Given the description of an element on the screen output the (x, y) to click on. 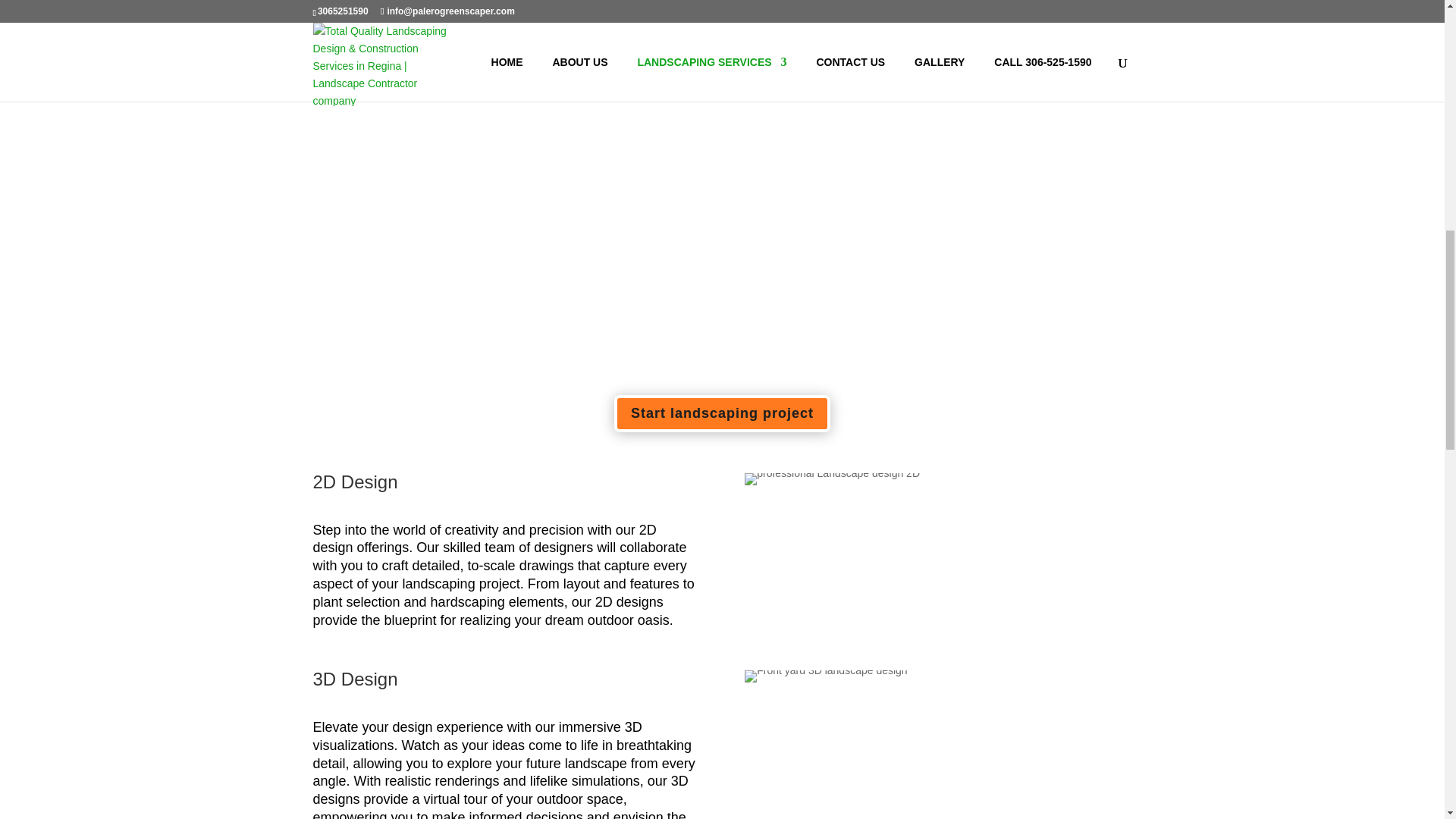
Start landscaping project (721, 413)
Front yard landscape design Regina (825, 676)
Landscape Design 2D in Regina (832, 479)
